Given the description of an element on the screen output the (x, y) to click on. 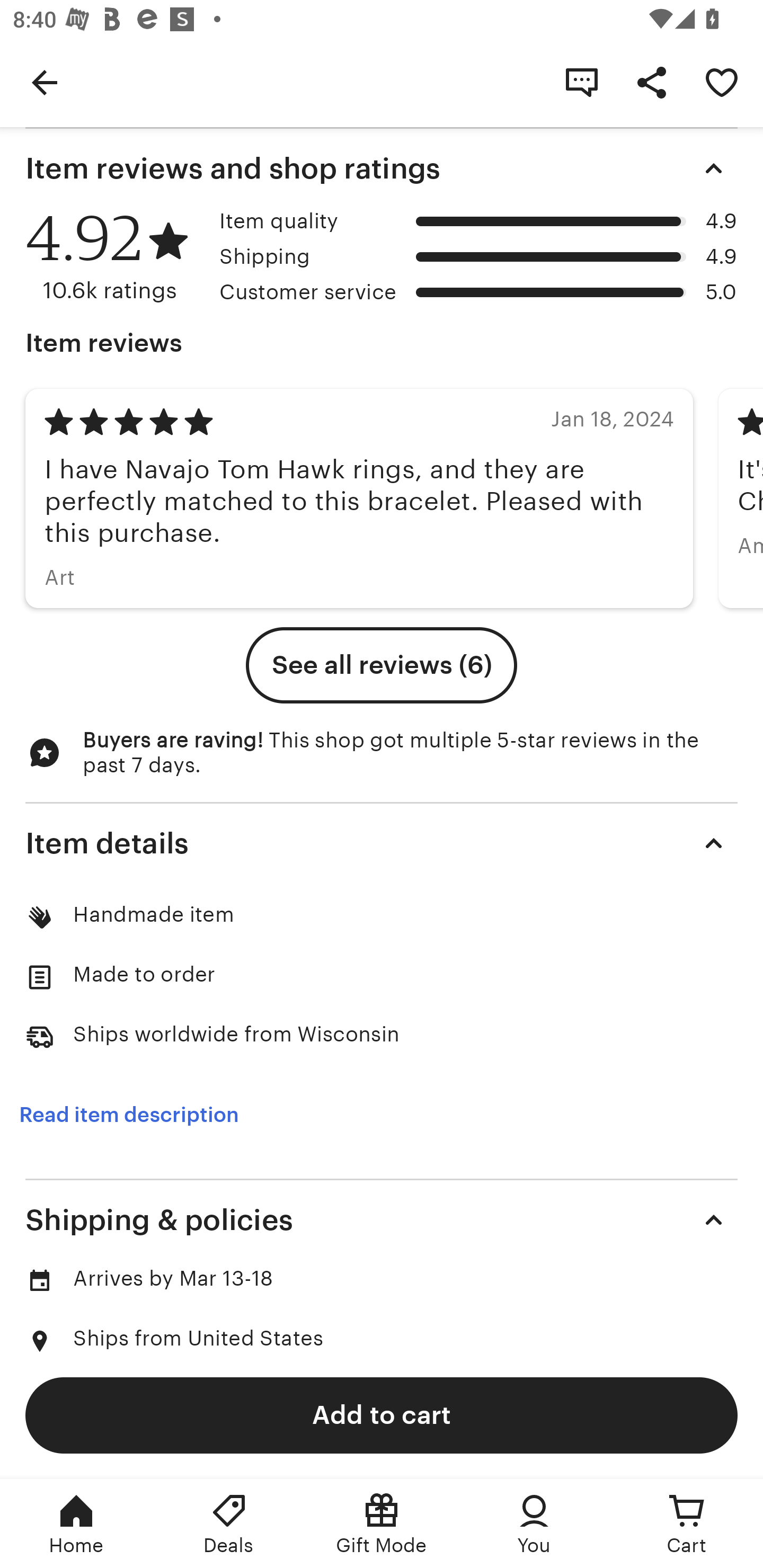
Navigate up (44, 81)
Contact shop (581, 81)
Share (651, 81)
Item reviews and shop ratings (381, 168)
4.92 10.6k ratings (115, 257)
See all reviews (6) (381, 665)
Item details (381, 842)
Read item description (128, 1114)
Shipping & policies (381, 1219)
Add to cart (381, 1414)
Deals (228, 1523)
Gift Mode (381, 1523)
You (533, 1523)
Cart (686, 1523)
